Given the description of an element on the screen output the (x, y) to click on. 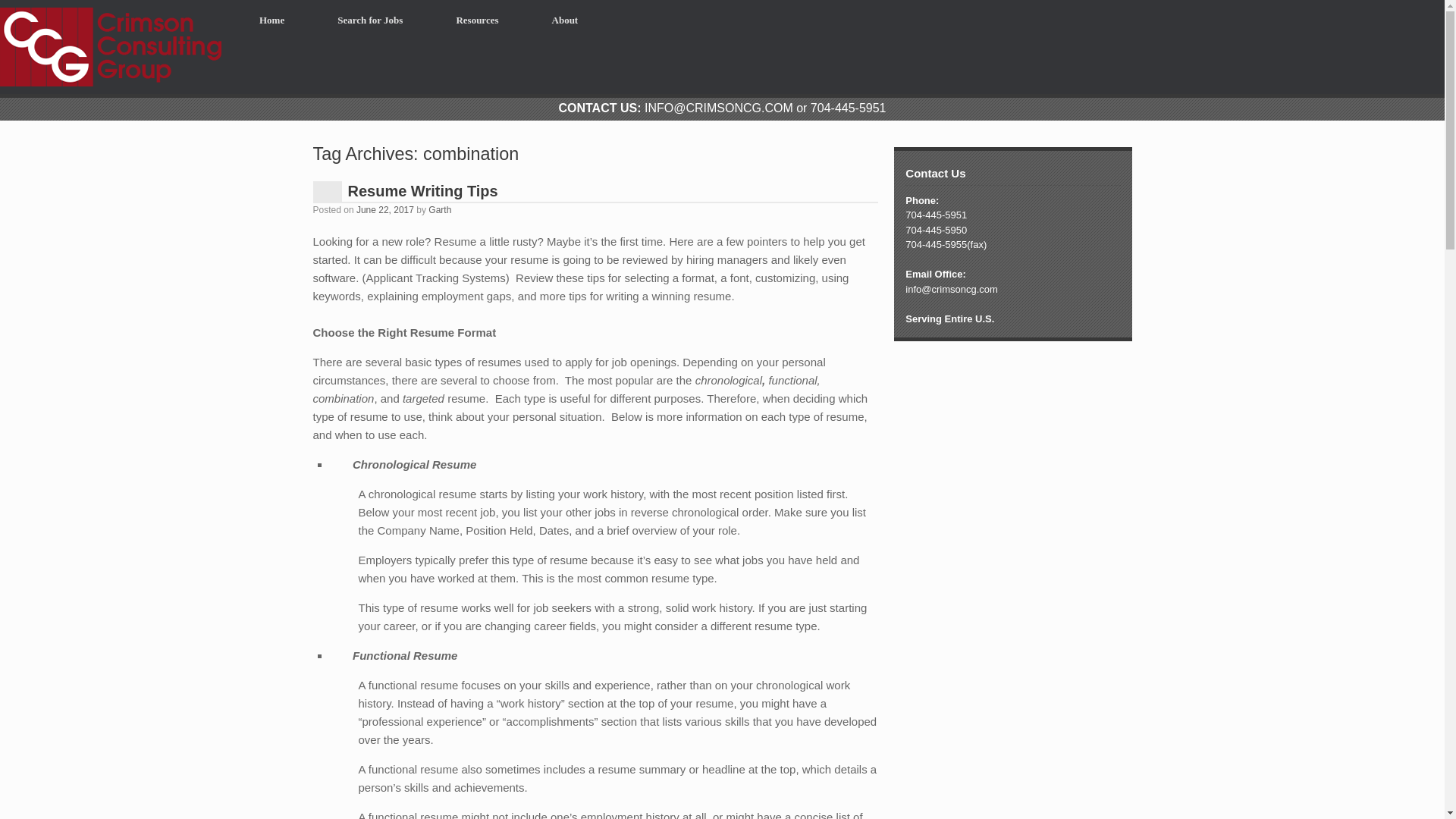
Home (271, 20)
Resources (476, 20)
Garth (439, 209)
June 22, 2017 (384, 209)
View all posts by Garth (439, 209)
Resume Writing Tips (422, 190)
Permalink to Resume Writing Tips (422, 190)
Crimson Consulting Group (110, 47)
Search for Jobs (370, 20)
About (565, 20)
11:19 am (384, 209)
